Given the description of an element on the screen output the (x, y) to click on. 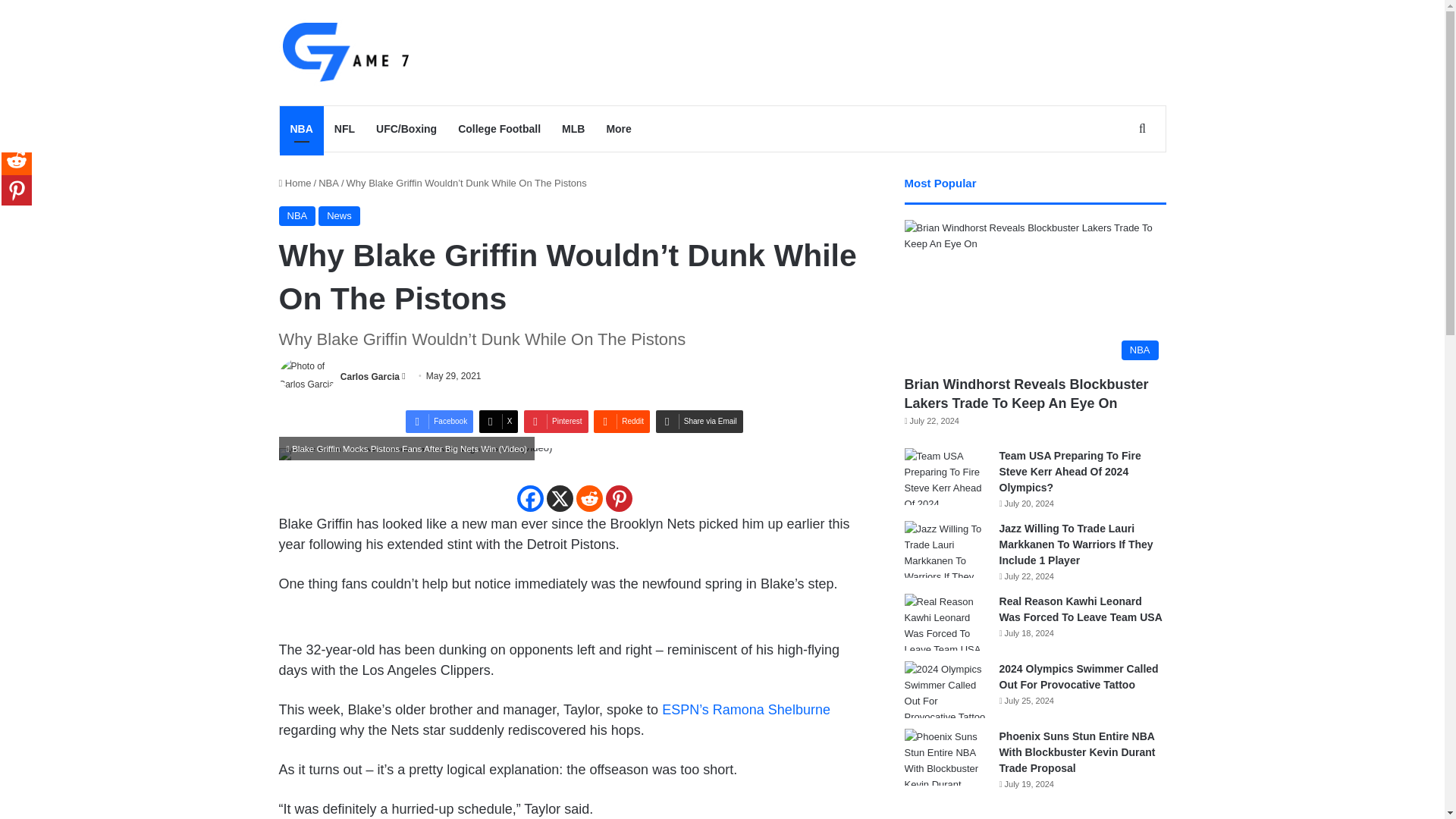
Pinterest (618, 498)
Carlos Garcia (369, 376)
More (618, 128)
Pinterest (556, 421)
Facebook (439, 421)
X (559, 498)
Reddit (621, 421)
Pinterest (556, 421)
Home (295, 183)
Share via Email (699, 421)
NBA (328, 183)
NFL (344, 128)
College Football (498, 128)
News (338, 216)
